Given the description of an element on the screen output the (x, y) to click on. 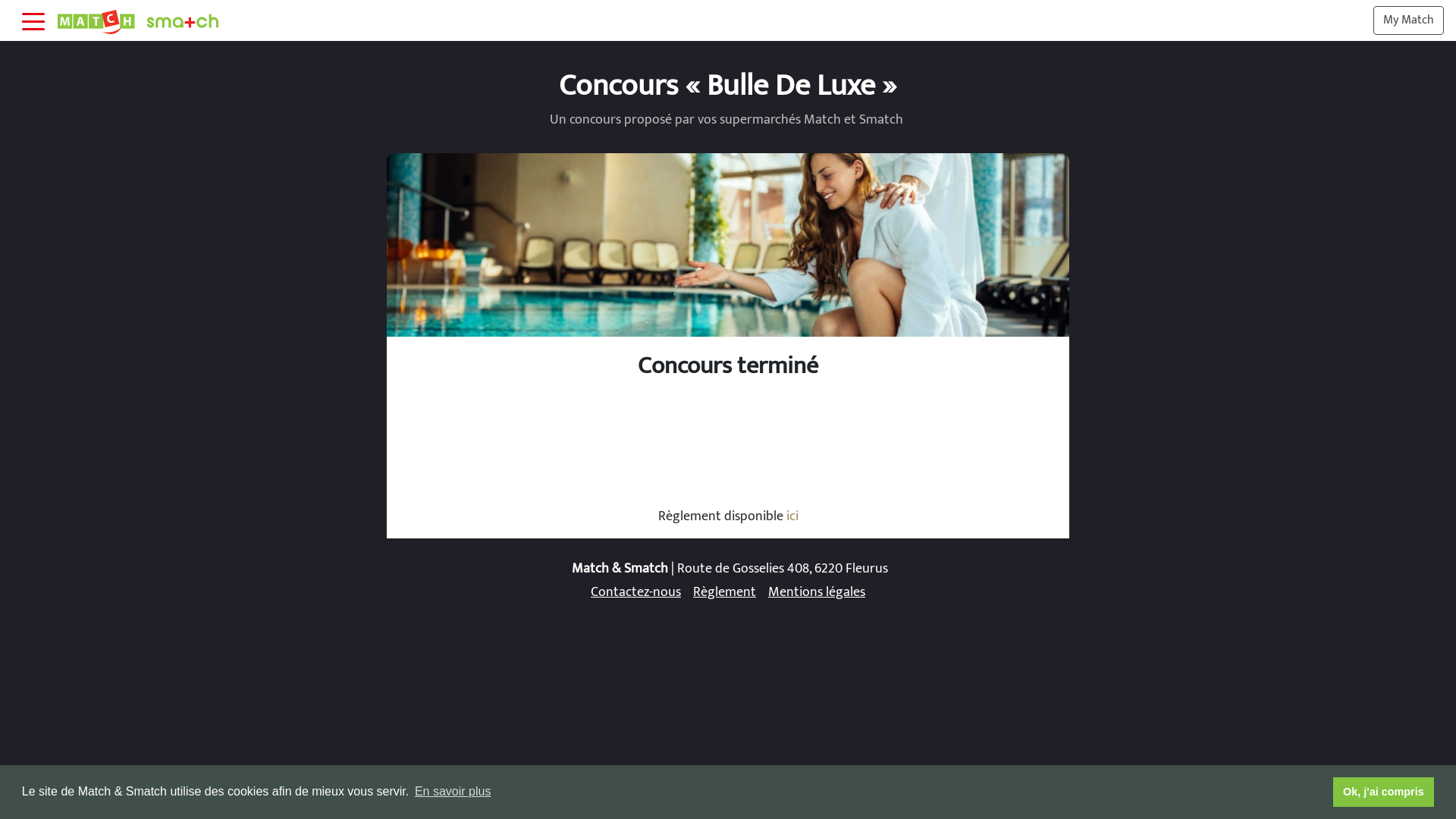
ici Element type: text (791, 516)
En savoir plus Element type: text (452, 791)
My Match Element type: text (1408, 20)
Contactez-nous Element type: text (635, 591)
Ok, j'ai compris Element type: text (1383, 791)
